Given the description of an element on the screen output the (x, y) to click on. 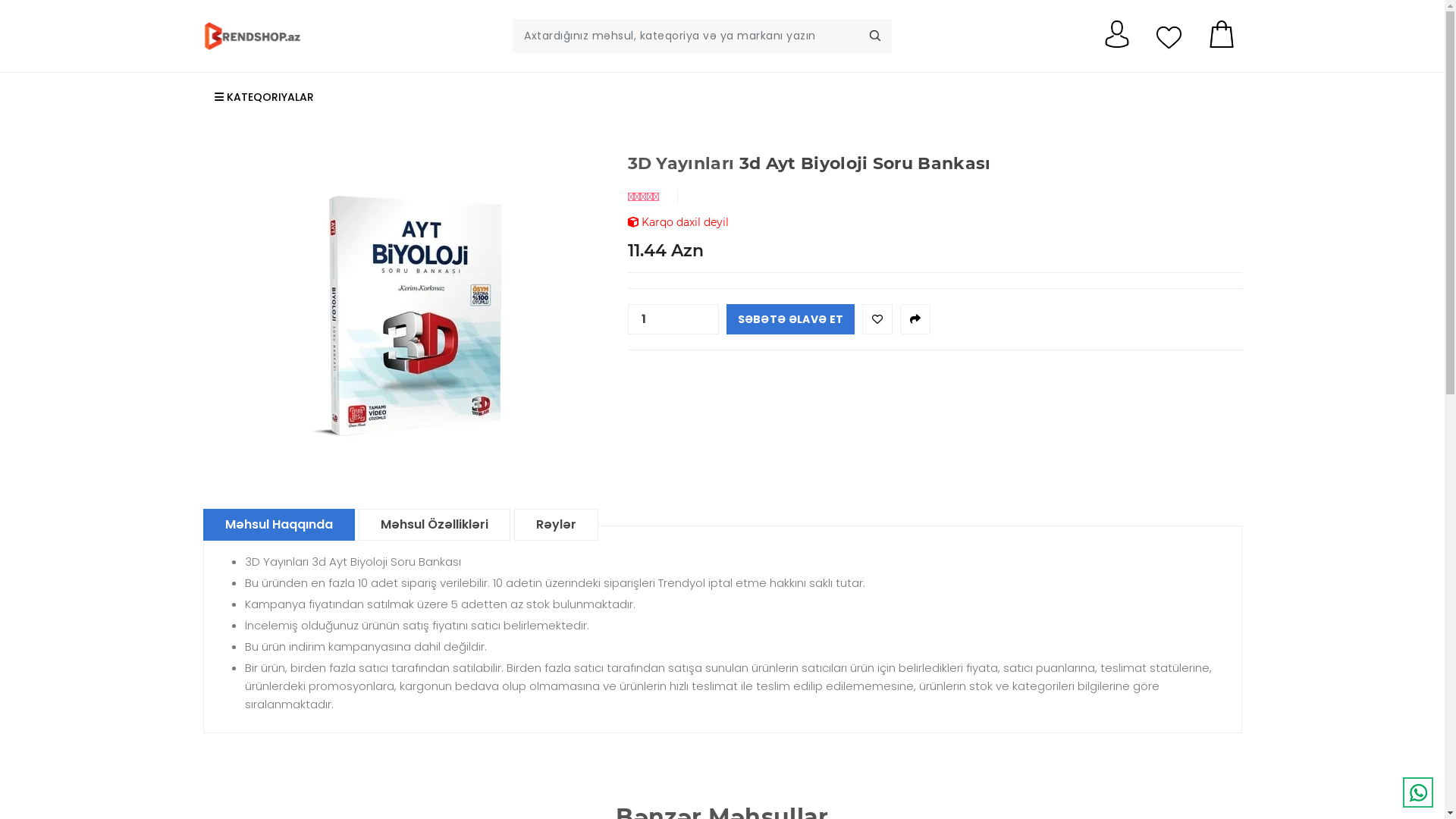
Wishlist Element type: hover (877, 319)
KATEQORIYALAR Element type: text (316, 97)
